Given the description of an element on the screen output the (x, y) to click on. 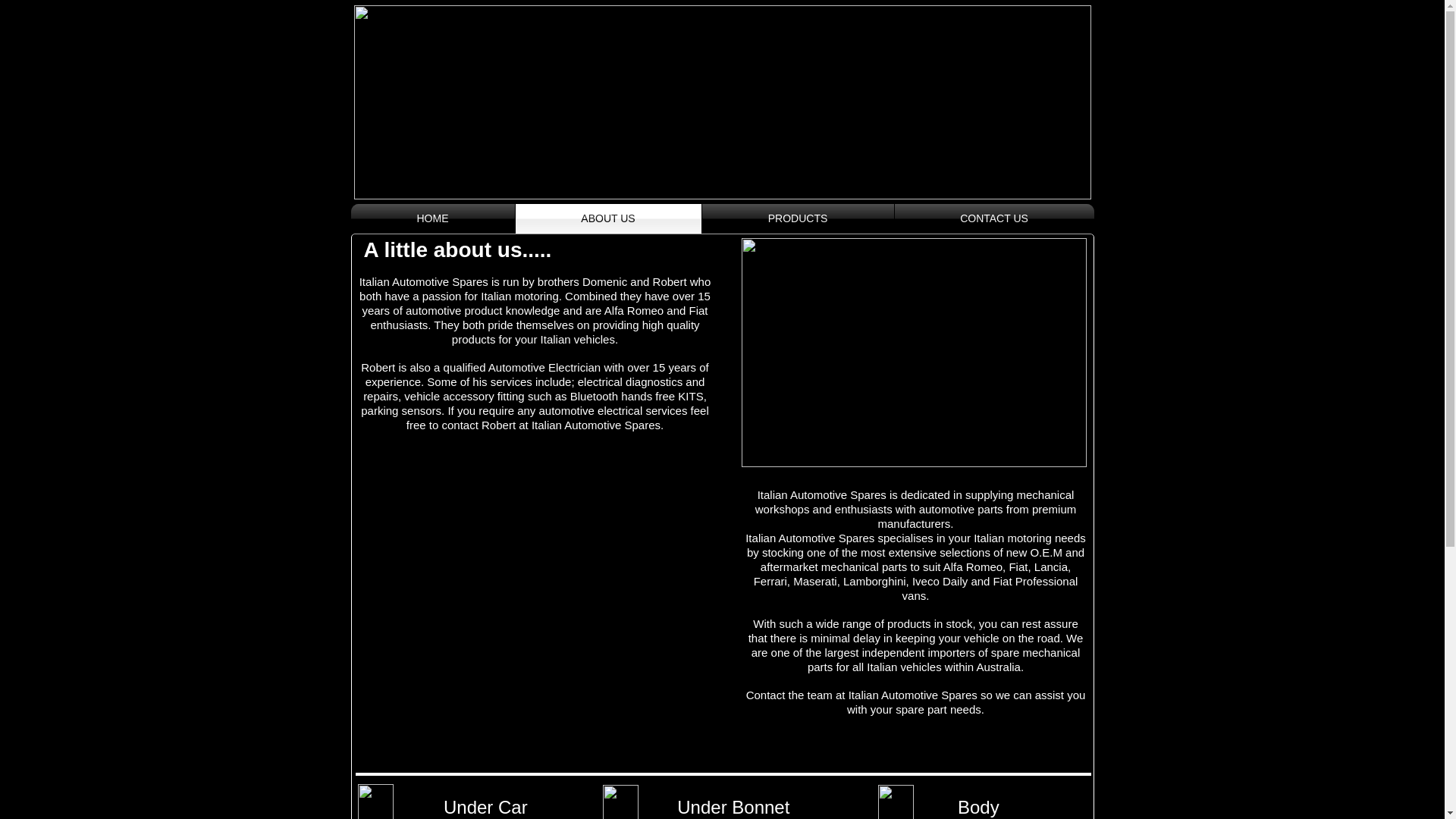
ABOUT US Element type: text (608, 218)
Main LogoHeaderwithnumber.png Element type: hover (721, 102)
HOME Element type: text (432, 218)
CONTACT US Element type: text (994, 218)
PRODUCTS Element type: text (798, 218)
DSC_1573v1.jpg Element type: hover (913, 352)
